Given the description of an element on the screen output the (x, y) to click on. 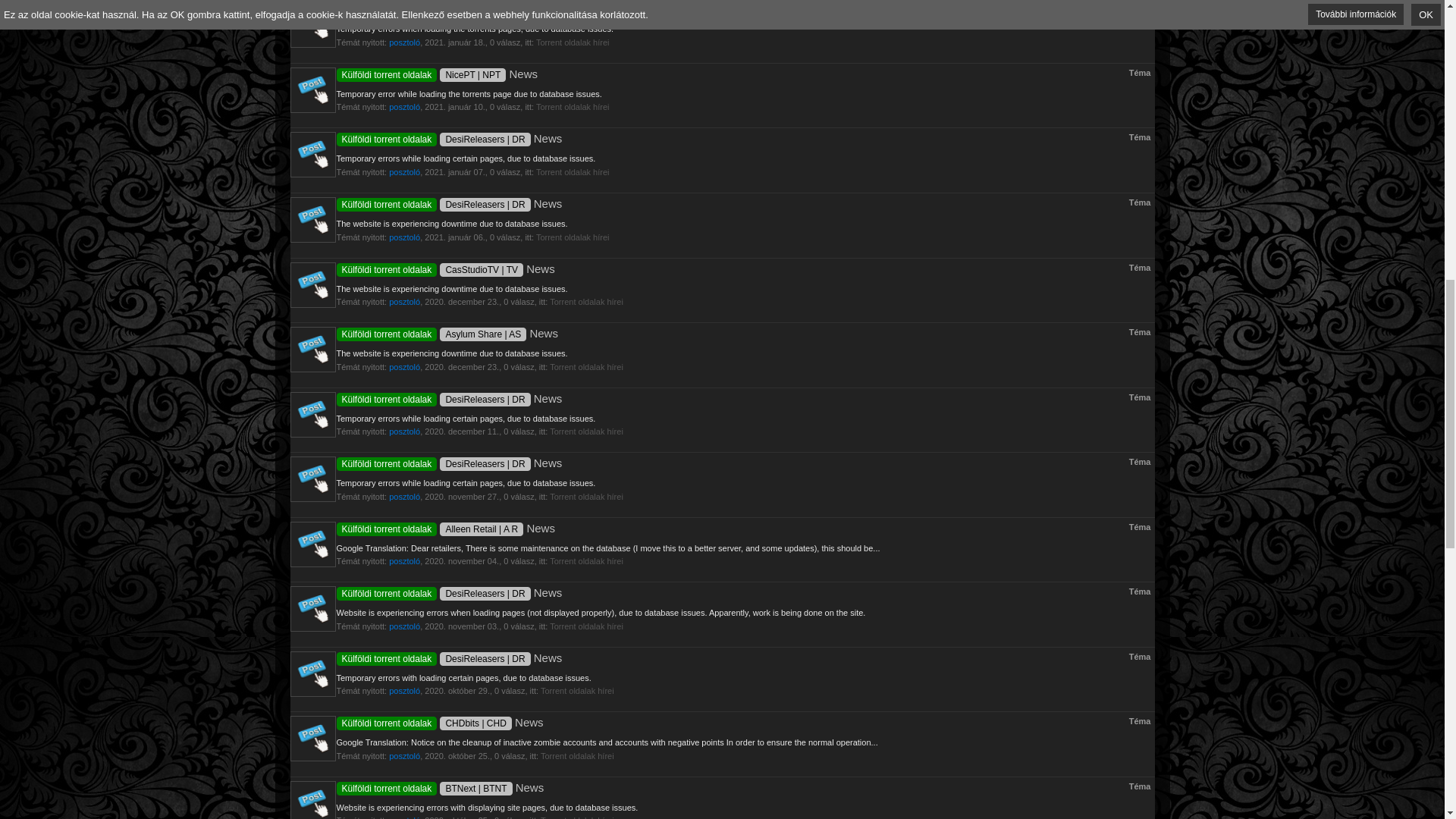
2020. november 04.  17:32 -kor (462, 560)
2020. december 23.  06:14 -kor (462, 301)
2020. december 23.  06:14 -kor (462, 366)
2020. november 03.  15:52 -kor (462, 625)
2020. december 11.  10:34 -kor (462, 430)
2020. november 27.  01:23 -kor (462, 496)
